Given the description of an element on the screen output the (x, y) to click on. 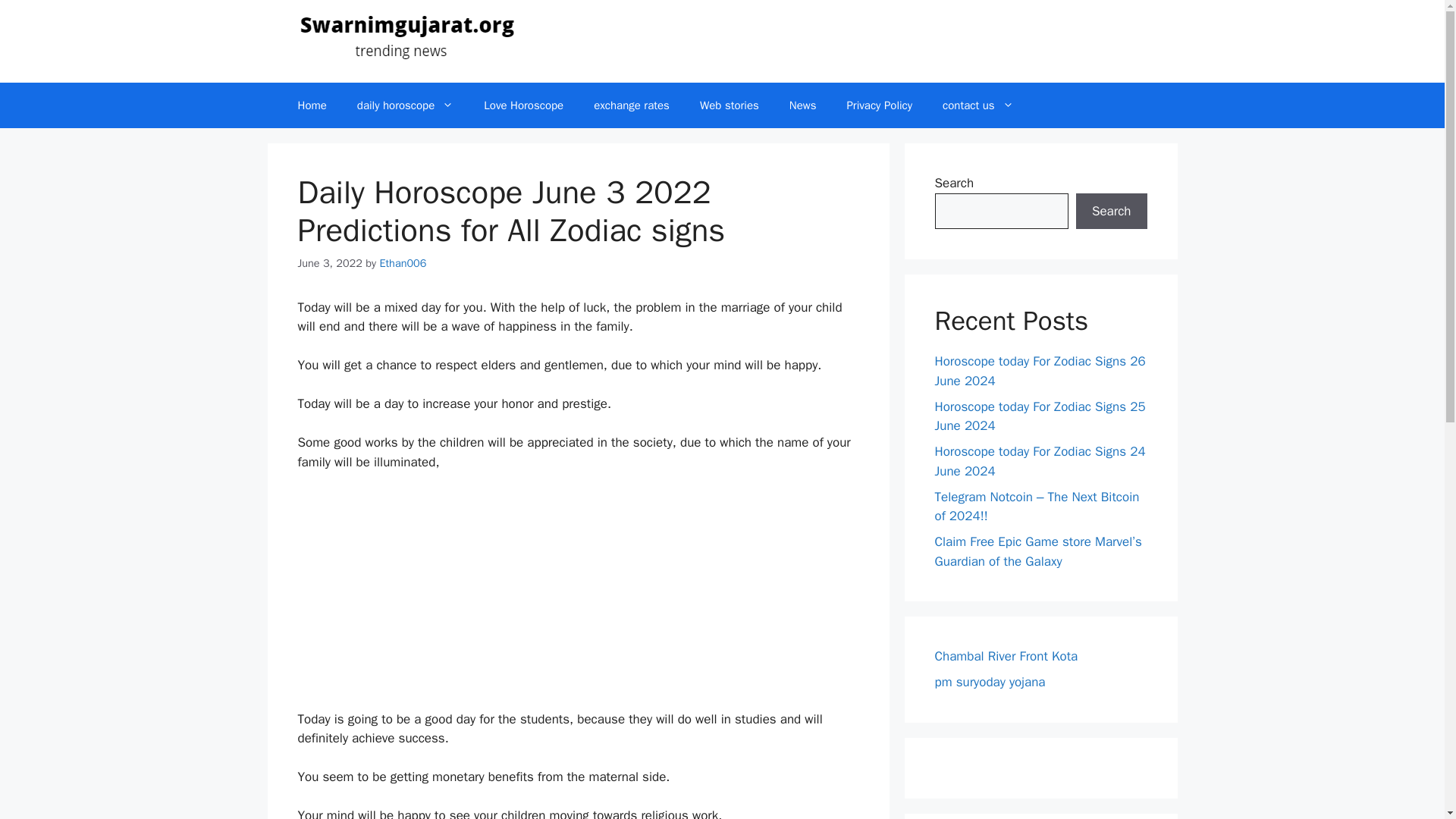
View all posts by Ethan006 (402, 263)
Horoscope today For Zodiac Signs 26 June 2024 (1039, 370)
Advertisement (578, 597)
Chambal River Front Kota (1005, 656)
Search (1111, 210)
Privacy Policy (879, 104)
Home (311, 104)
Horoscope today For Zodiac Signs 24 June 2024 (1039, 461)
daily horoscope (405, 104)
Web stories (729, 104)
